Given the description of an element on the screen output the (x, y) to click on. 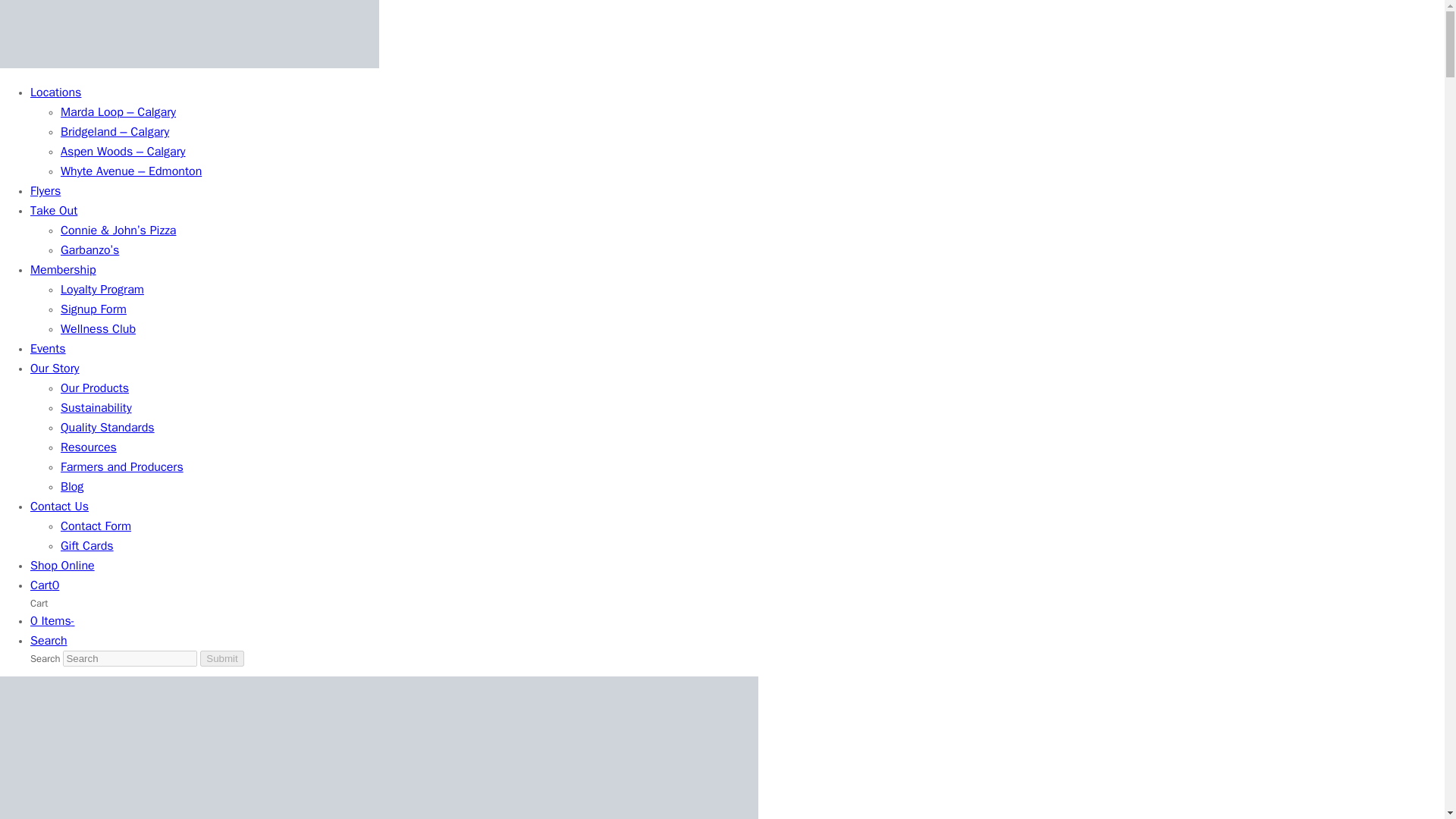
Locations (55, 92)
Quality Standards (107, 427)
Gift Cards (87, 545)
Shop Online (62, 565)
0 Items- (52, 621)
Sustainability (96, 408)
Search (48, 640)
Farmers and Producers (122, 467)
Flyers (45, 191)
Our Story (55, 368)
